Given the description of an element on the screen output the (x, y) to click on. 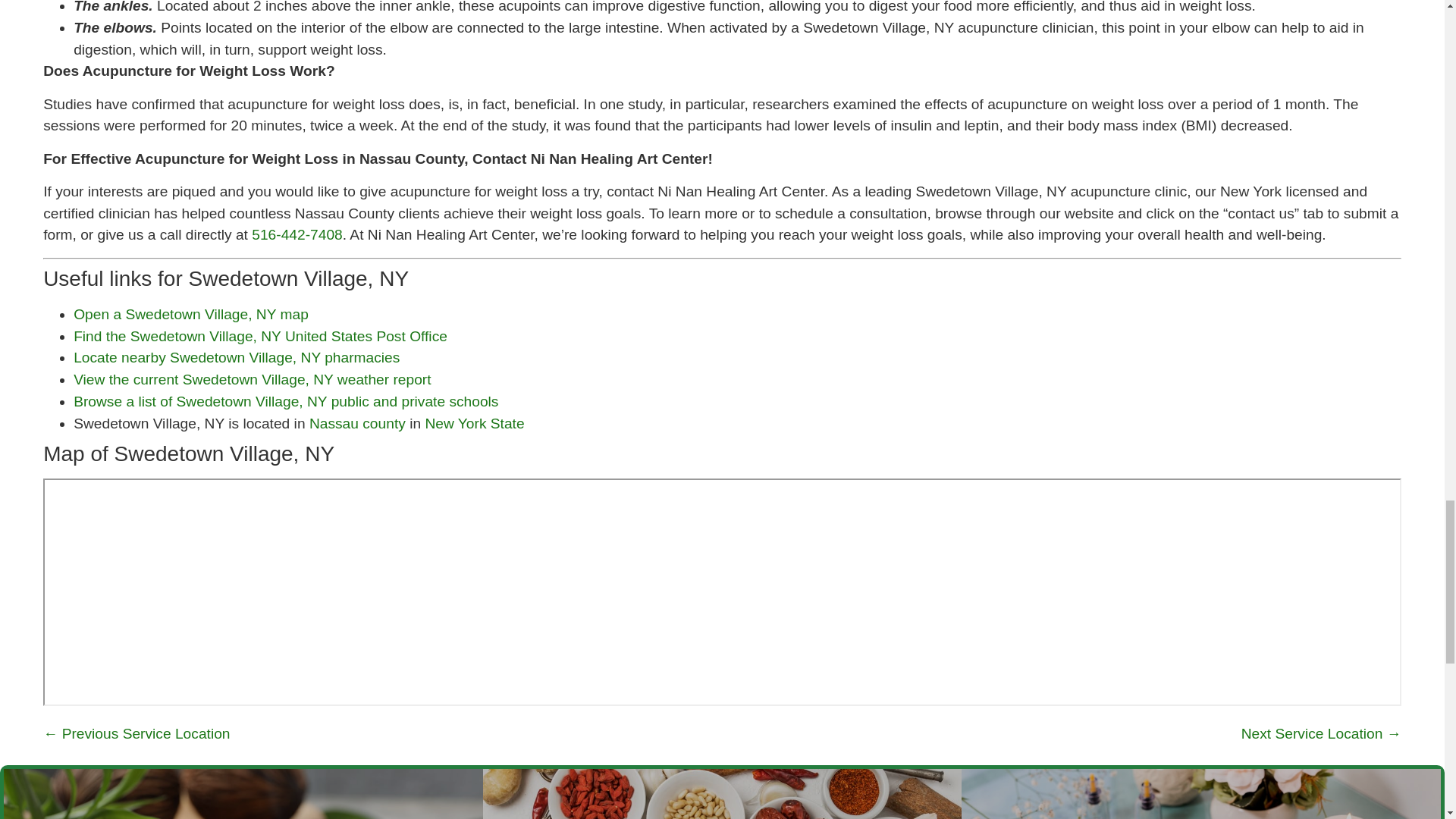
516-442-7408 (296, 234)
Open a Swedetown Village, NY map (191, 314)
Locate nearby Swedetown Village, NY pharmacies (236, 357)
Find the Swedetown Village, NY United States Post Office (260, 335)
View the current Swedetown Village, NY weather report (252, 379)
Nassau county (357, 423)
New York State (474, 423)
